Given the description of an element on the screen output the (x, y) to click on. 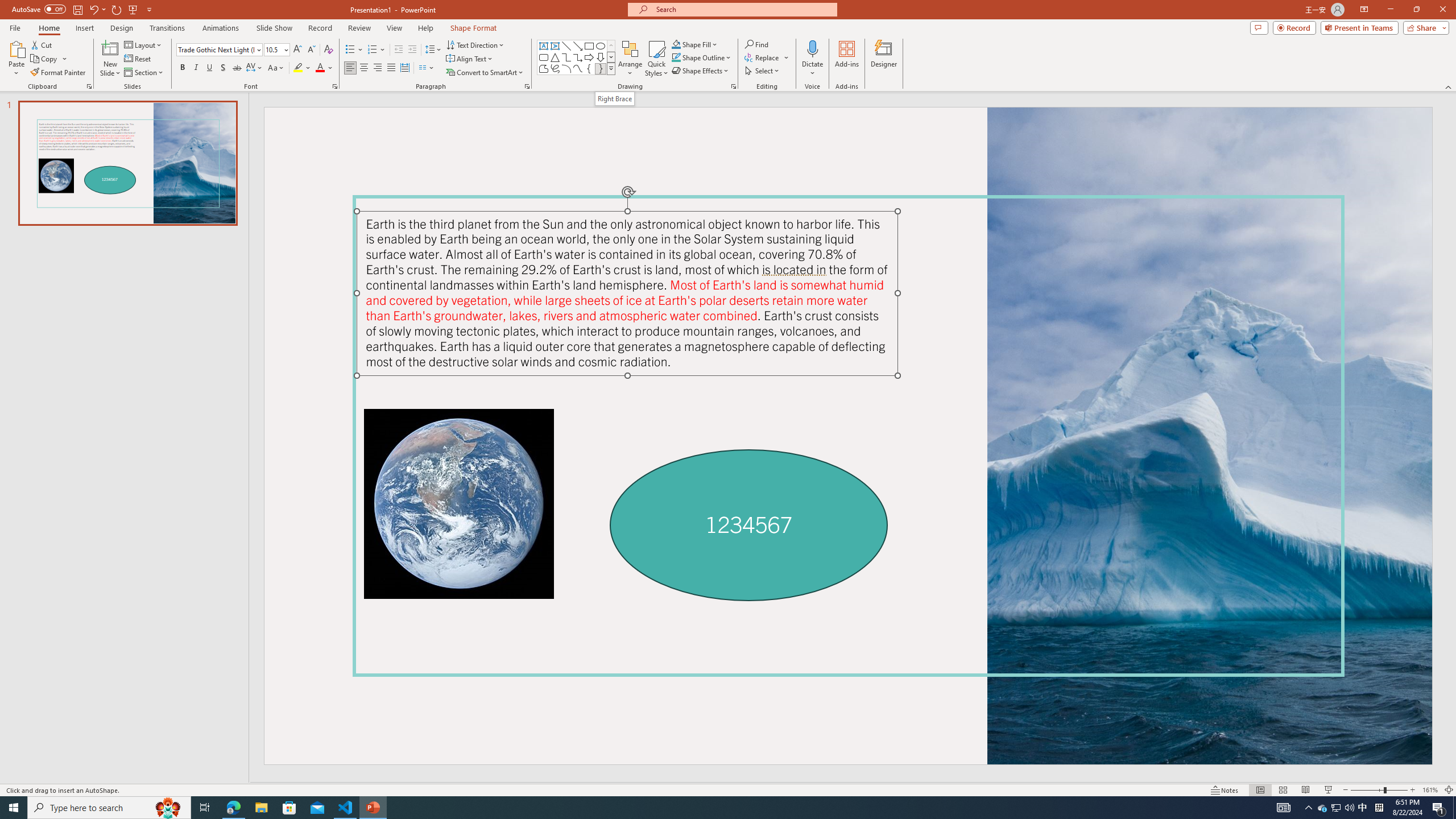
Shape Outline Teal, Accent 1 (675, 56)
